Given the description of an element on the screen output the (x, y) to click on. 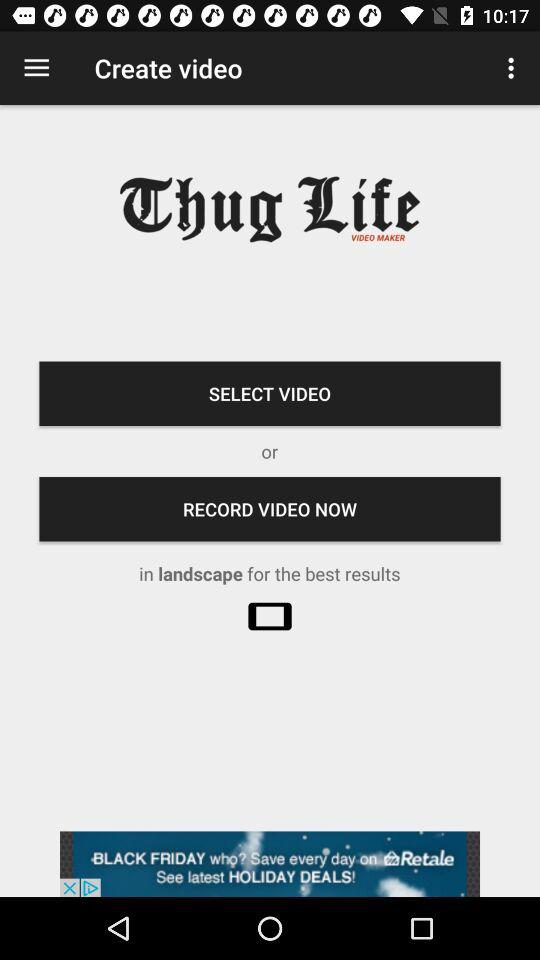
advertisement display (270, 864)
